Given the description of an element on the screen output the (x, y) to click on. 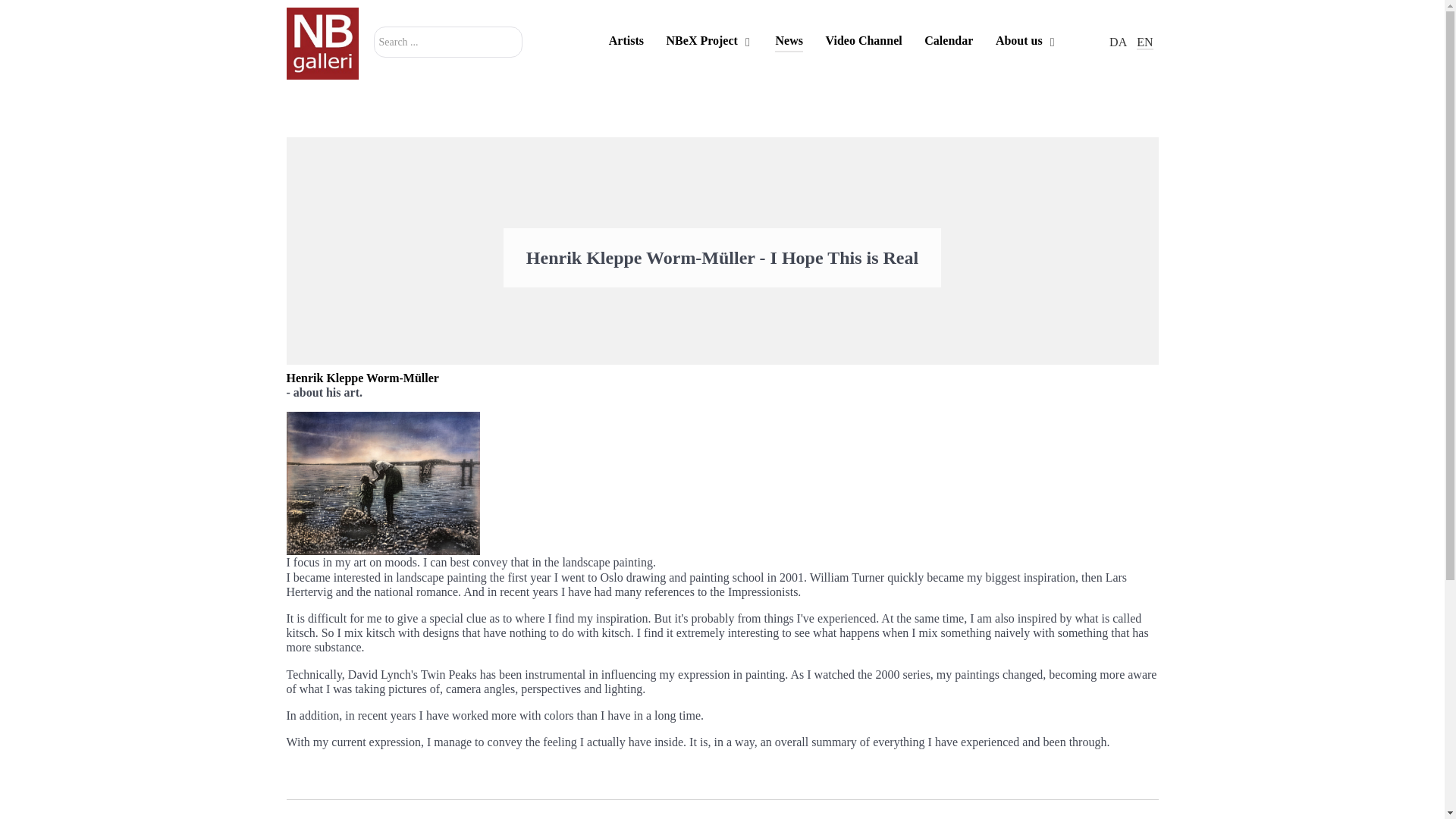
EN (1145, 42)
Calendar (948, 42)
Video Channel (863, 42)
NBeX Project (709, 42)
News (788, 42)
Artists (625, 42)
DA (1119, 42)
